Given the description of an element on the screen output the (x, y) to click on. 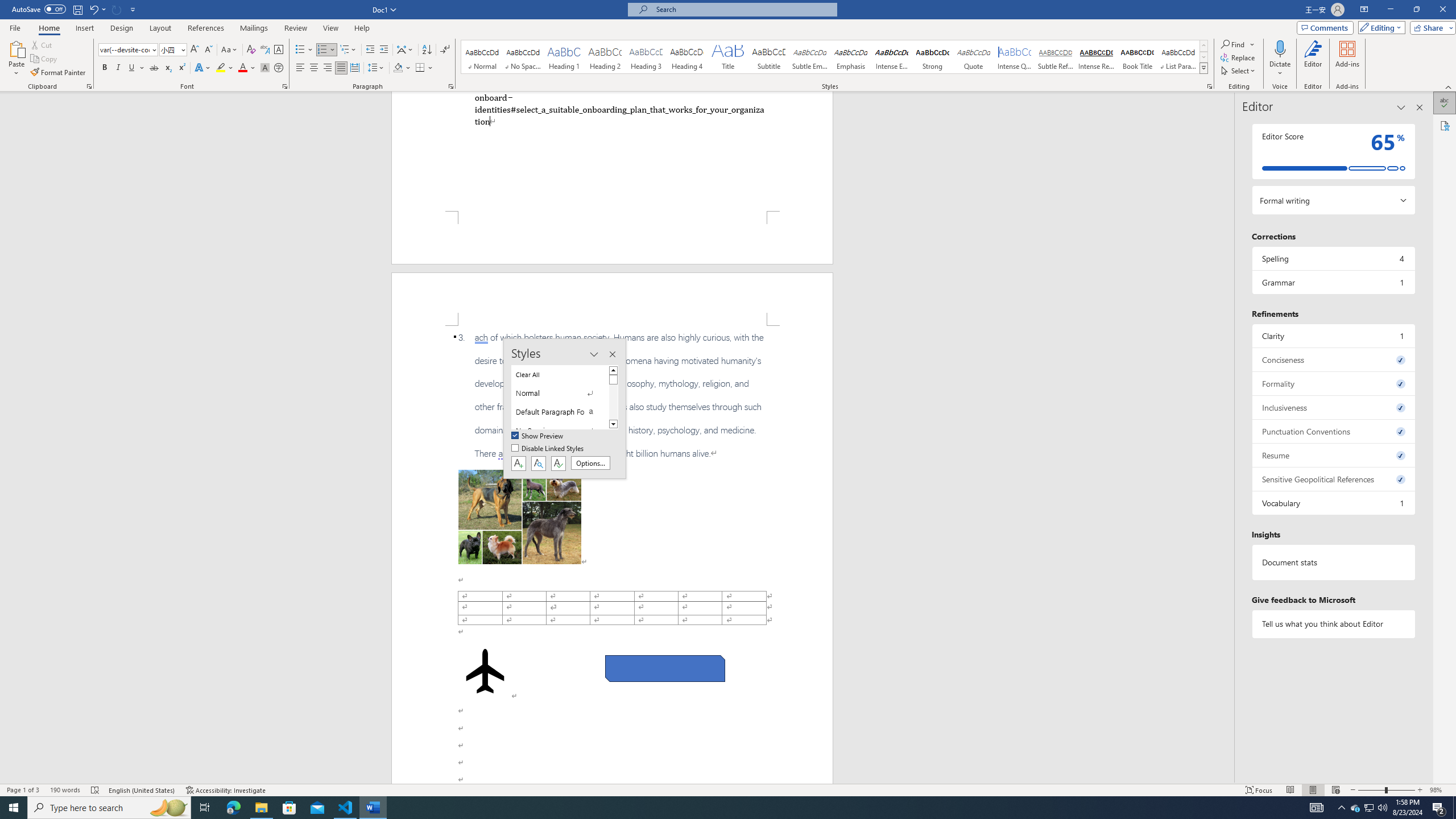
Borders (424, 67)
Font Size (172, 49)
Page 1 content (611, 151)
Format Painter (58, 72)
Quick Access Toolbar (74, 9)
Formality, 0 issues. Press space or enter to review items. (1333, 383)
Rectangle: Diagonal Corners Snipped 2 (665, 668)
Default Paragraph Font (559, 411)
Language English (United States) (141, 790)
AutomationID: QuickStylesGallery (834, 56)
Undo Apply Quick Style (92, 9)
Character Border (278, 49)
Italic (118, 67)
View (330, 28)
Save (77, 9)
